Given the description of an element on the screen output the (x, y) to click on. 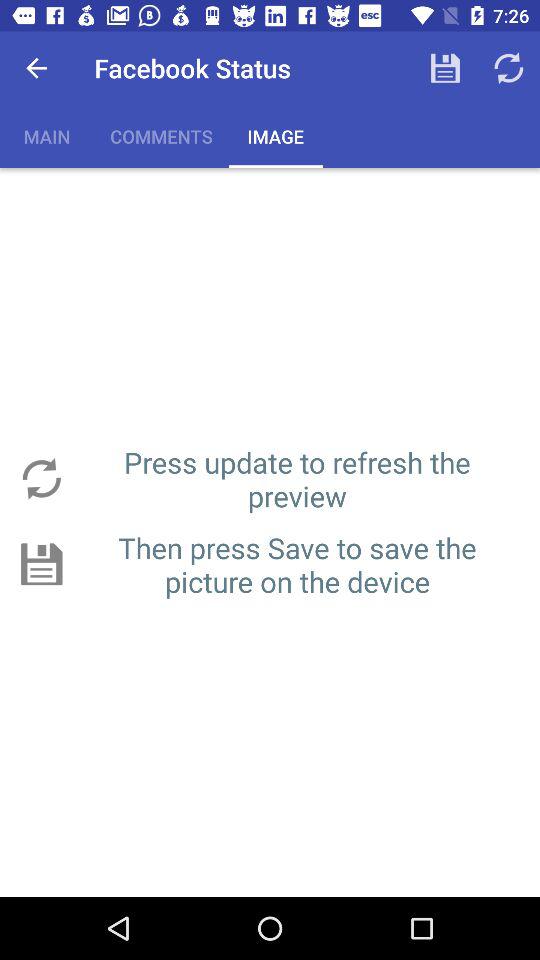
open the icon above the main item (36, 68)
